Given the description of an element on the screen output the (x, y) to click on. 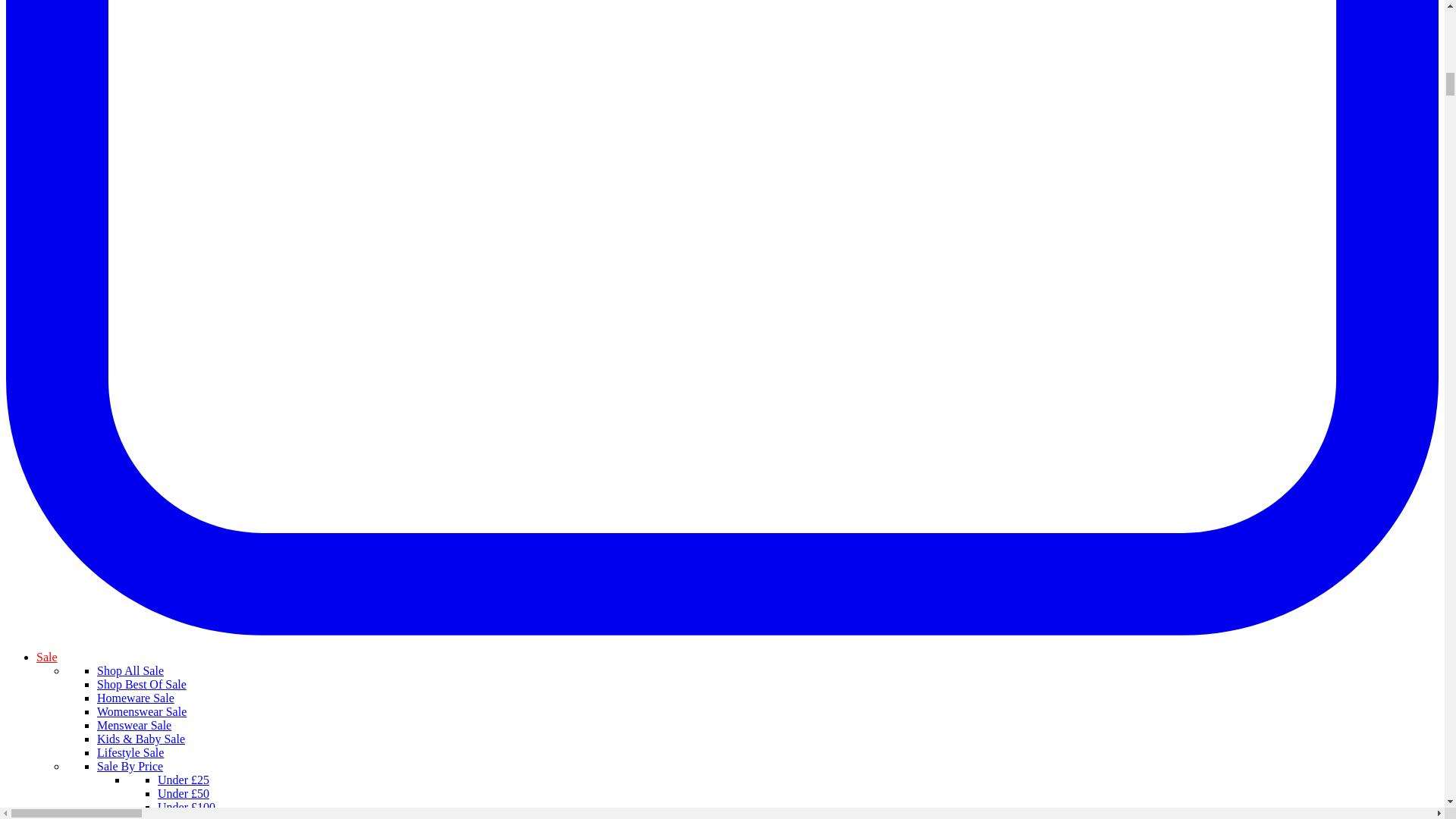
Sale By Price (130, 766)
Lifestyle Sale (130, 752)
Shop Best Of Sale (141, 684)
Shop All Sale (130, 670)
Womenswear Sale (141, 711)
Homeware Sale (135, 697)
Menswear Sale (134, 725)
Sale (47, 656)
